Given the description of an element on the screen output the (x, y) to click on. 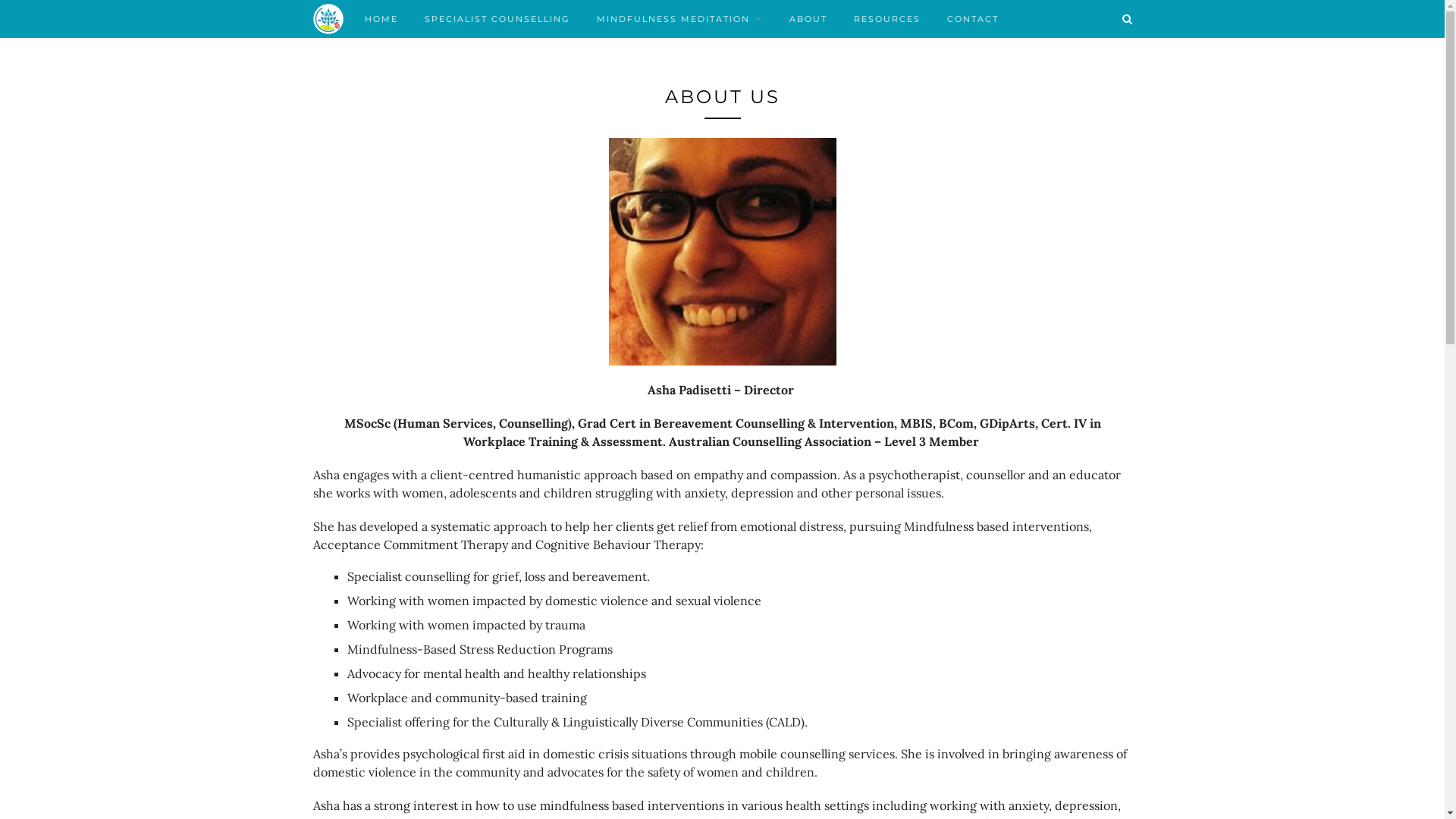
SPECIALIST COUNSELLING Element type: text (497, 18)
CONTACT Element type: text (971, 18)
ABOUT Element type: text (807, 18)
Mindful Counselling Australia logo Element type: hover (327, 17)
RESOURCES Element type: text (886, 18)
HOME Element type: text (380, 18)
MINDFULNESS MEDITATION Element type: text (679, 18)
